Given the description of an element on the screen output the (x, y) to click on. 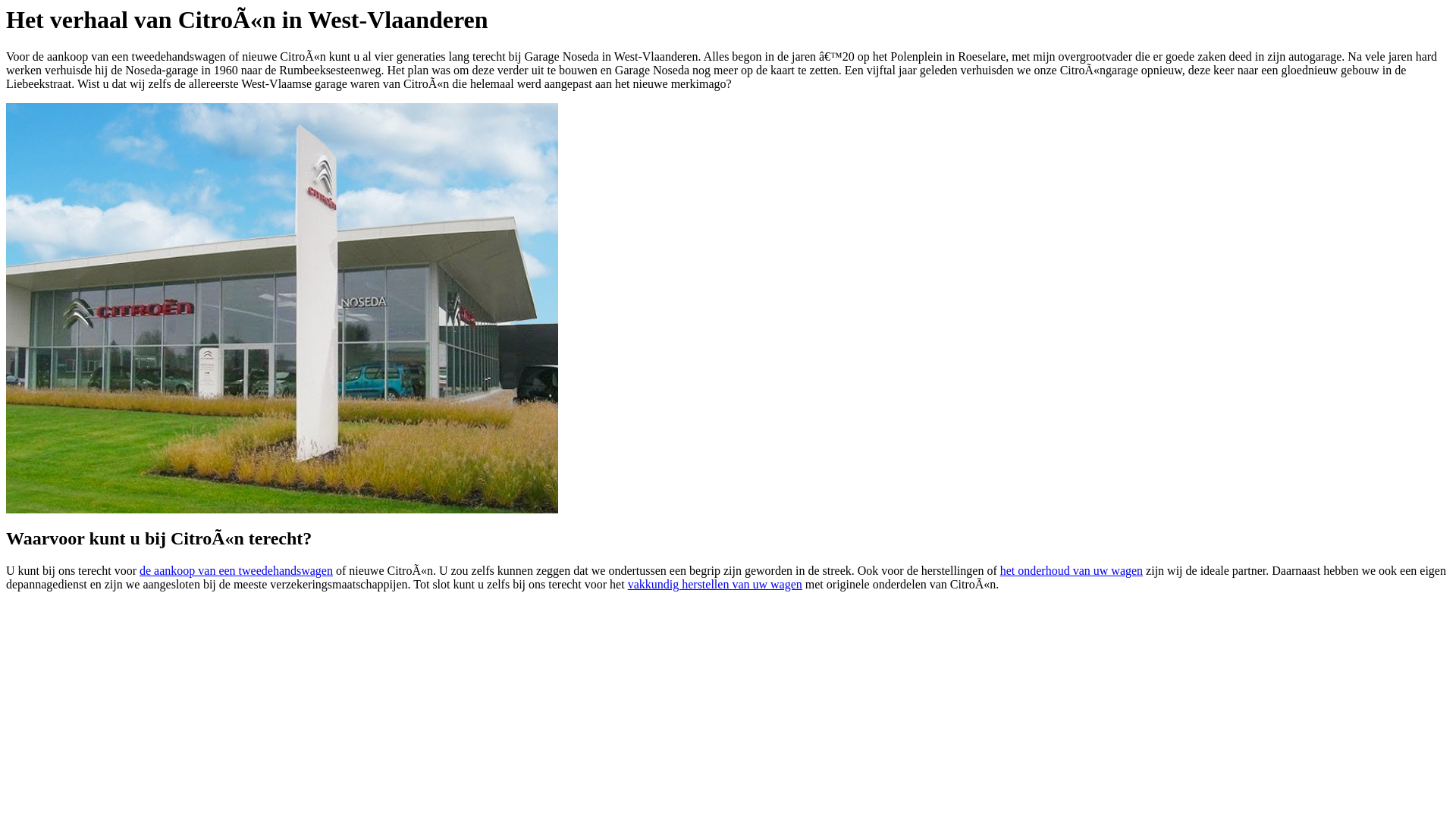
de aankoop van een tweedehandswagen Element type: text (235, 570)
vakkundig herstellen van uw wagen Element type: text (714, 583)
het onderhoud van uw wagen Element type: text (1071, 570)
